Given the description of an element on the screen output the (x, y) to click on. 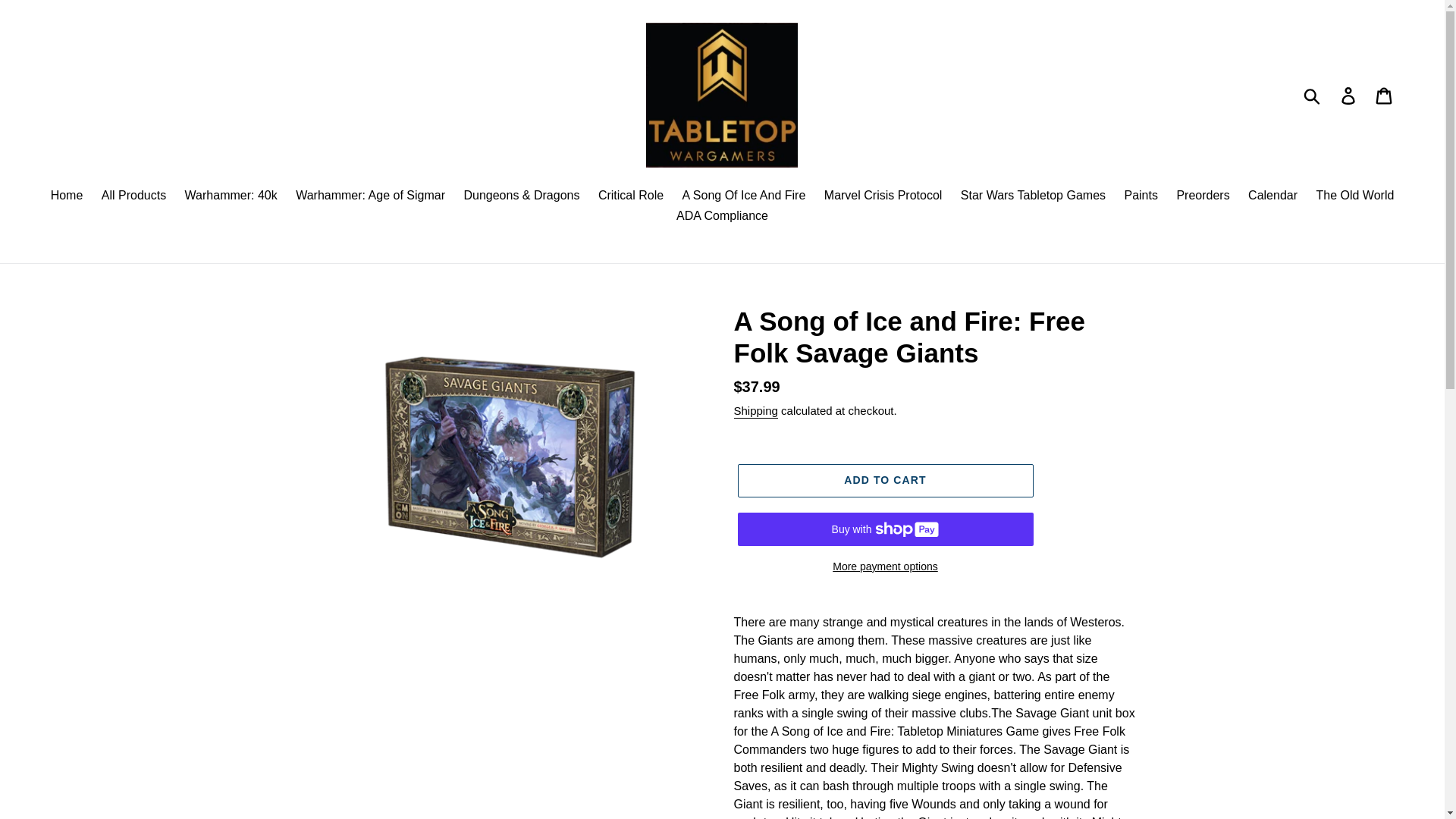
Warhammer: Age of Sigmar (370, 196)
Home (66, 196)
Marvel Crisis Protocol (883, 196)
Submit (1313, 94)
Warhammer: 40k (231, 196)
Calendar (1272, 196)
The Old World (1355, 196)
Cart (1385, 94)
All Products (133, 196)
Log in (1349, 94)
ADA Compliance (722, 217)
Preorders (1202, 196)
Critical Role (631, 196)
A Song Of Ice And Fire (744, 196)
Star Wars Tabletop Games (1033, 196)
